Given the description of an element on the screen output the (x, y) to click on. 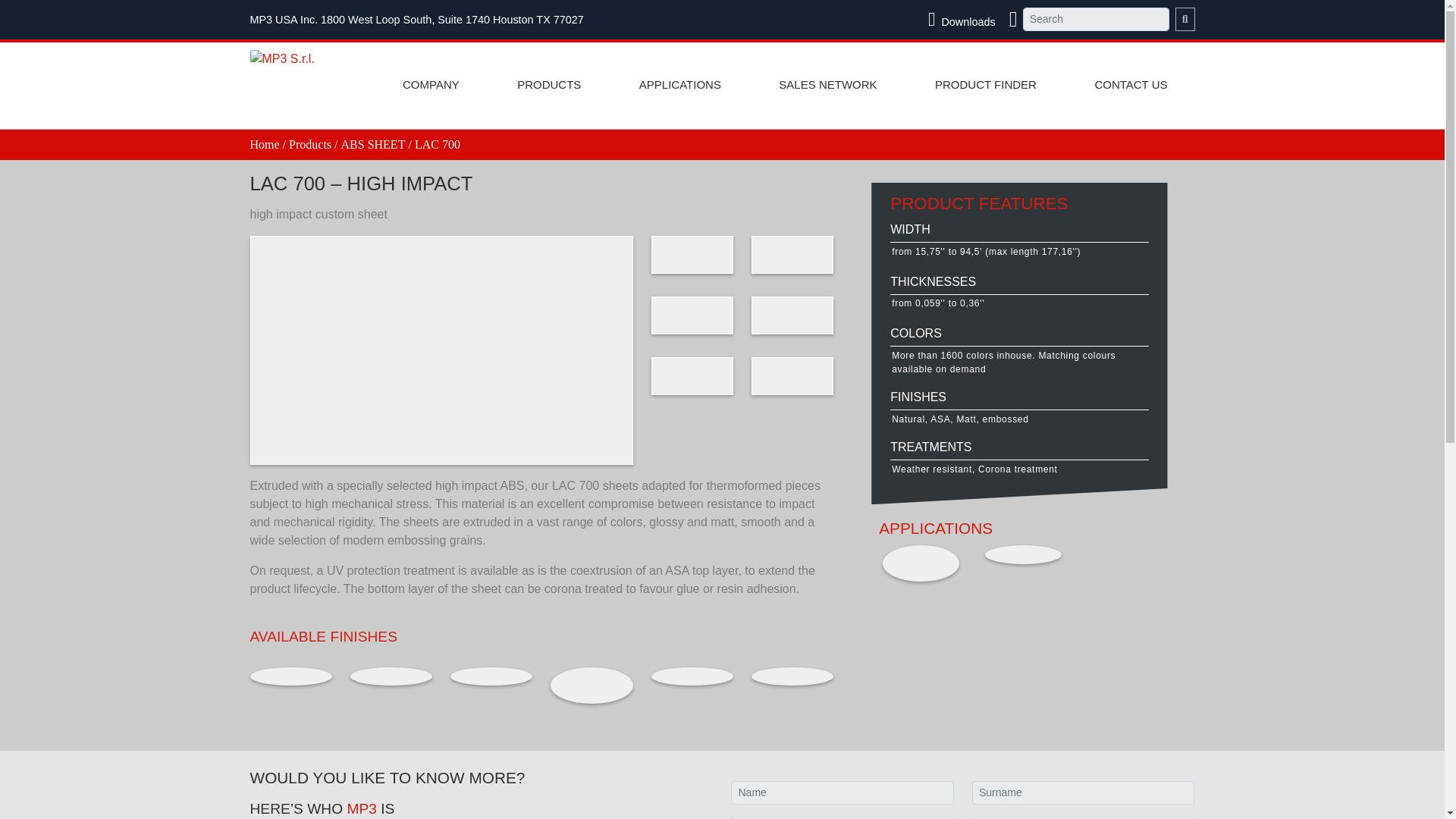
PRODUCTS (548, 85)
Lucida (391, 676)
APPLICATIONS (679, 85)
MP3 S.r.l. (282, 54)
Downloads (964, 19)
COMPANY (430, 85)
Opaca (290, 676)
Home (264, 144)
